Given the description of an element on the screen output the (x, y) to click on. 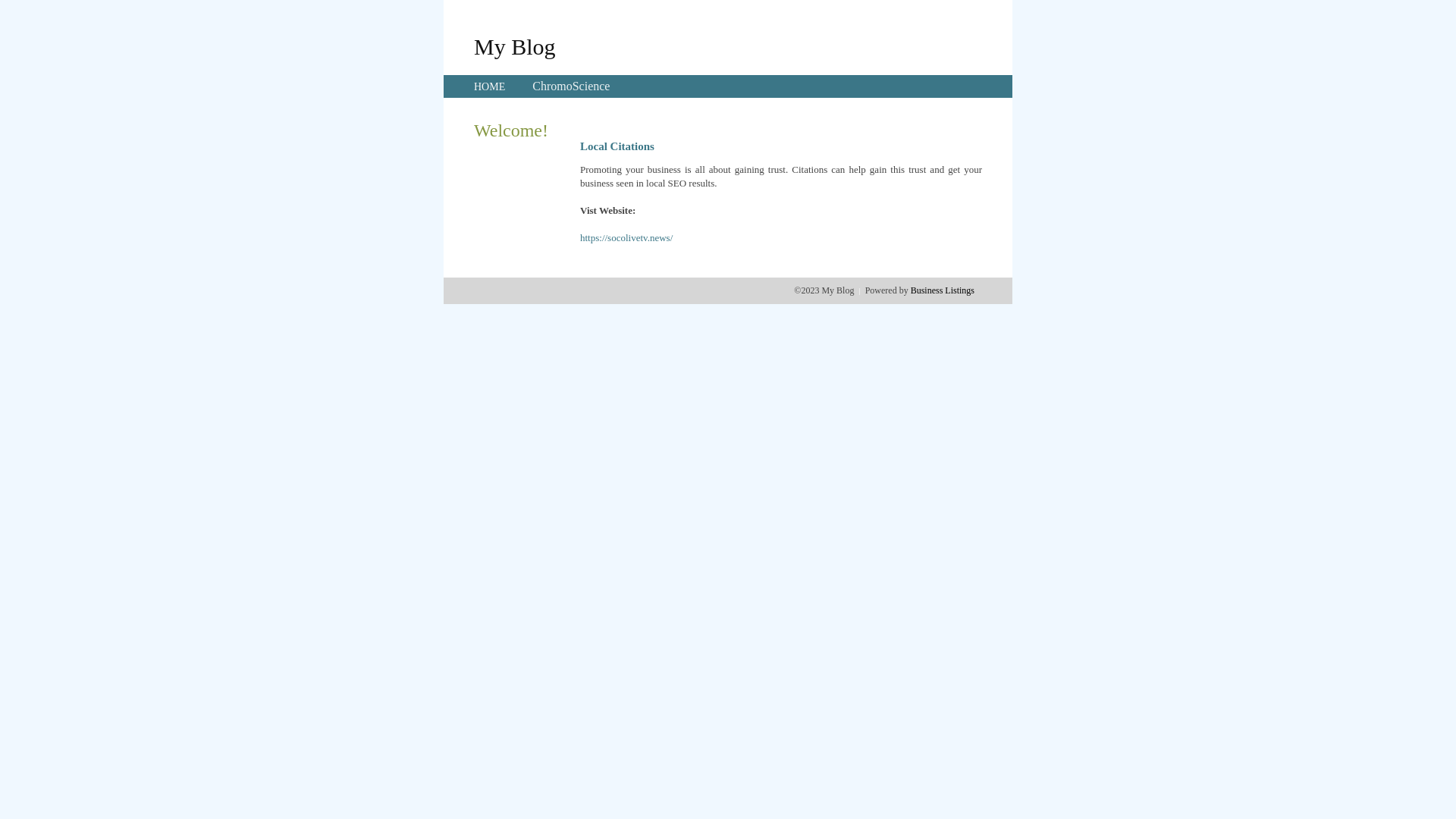
HOME Element type: text (489, 86)
Business Listings Element type: text (942, 290)
https://socolivetv.news/ Element type: text (626, 237)
ChromoScience Element type: text (570, 85)
My Blog Element type: text (514, 46)
